Given the description of an element on the screen output the (x, y) to click on. 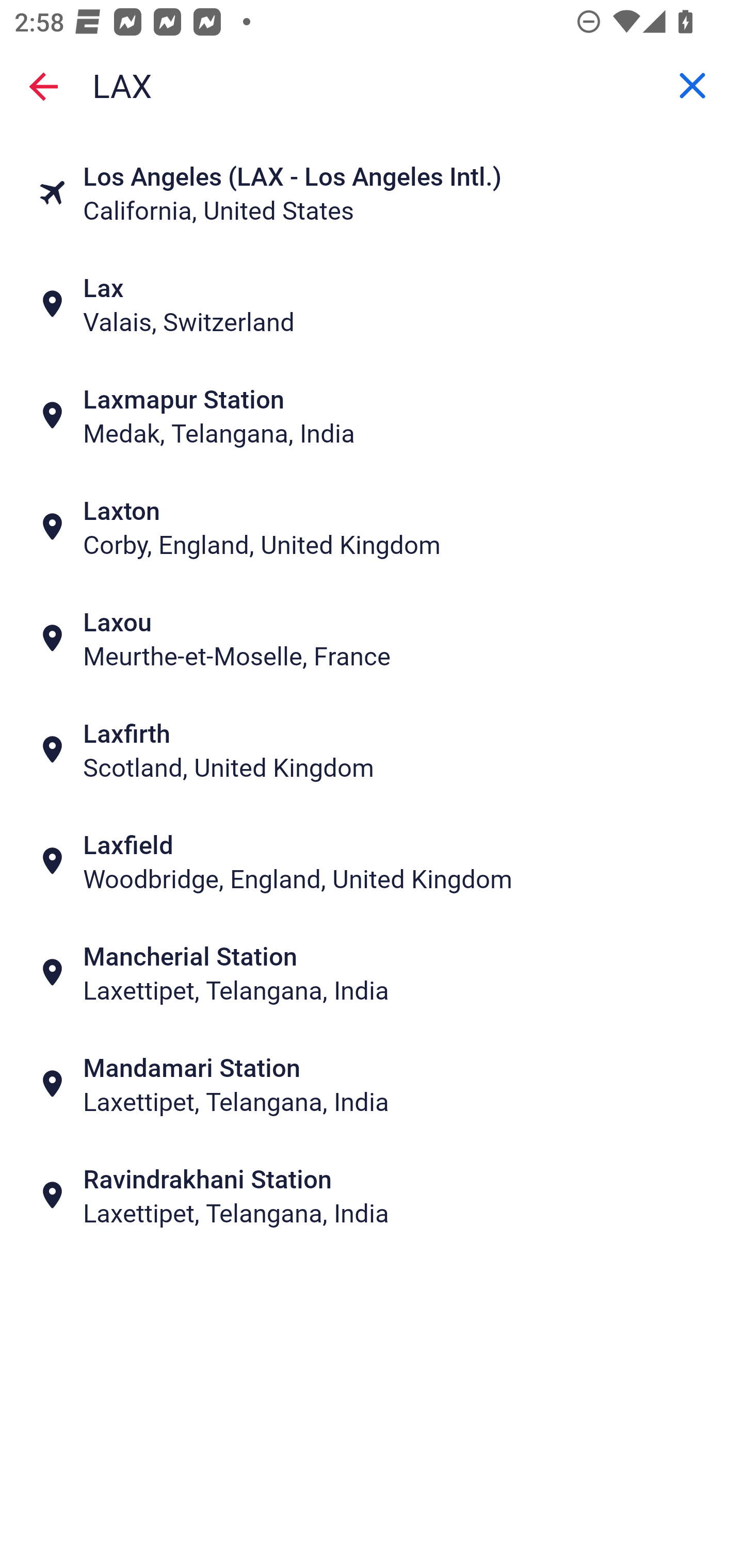
Clear Pick-up (692, 85)
Pick-up, LAX (371, 85)
Close search screen (43, 86)
